Given the description of an element on the screen output the (x, y) to click on. 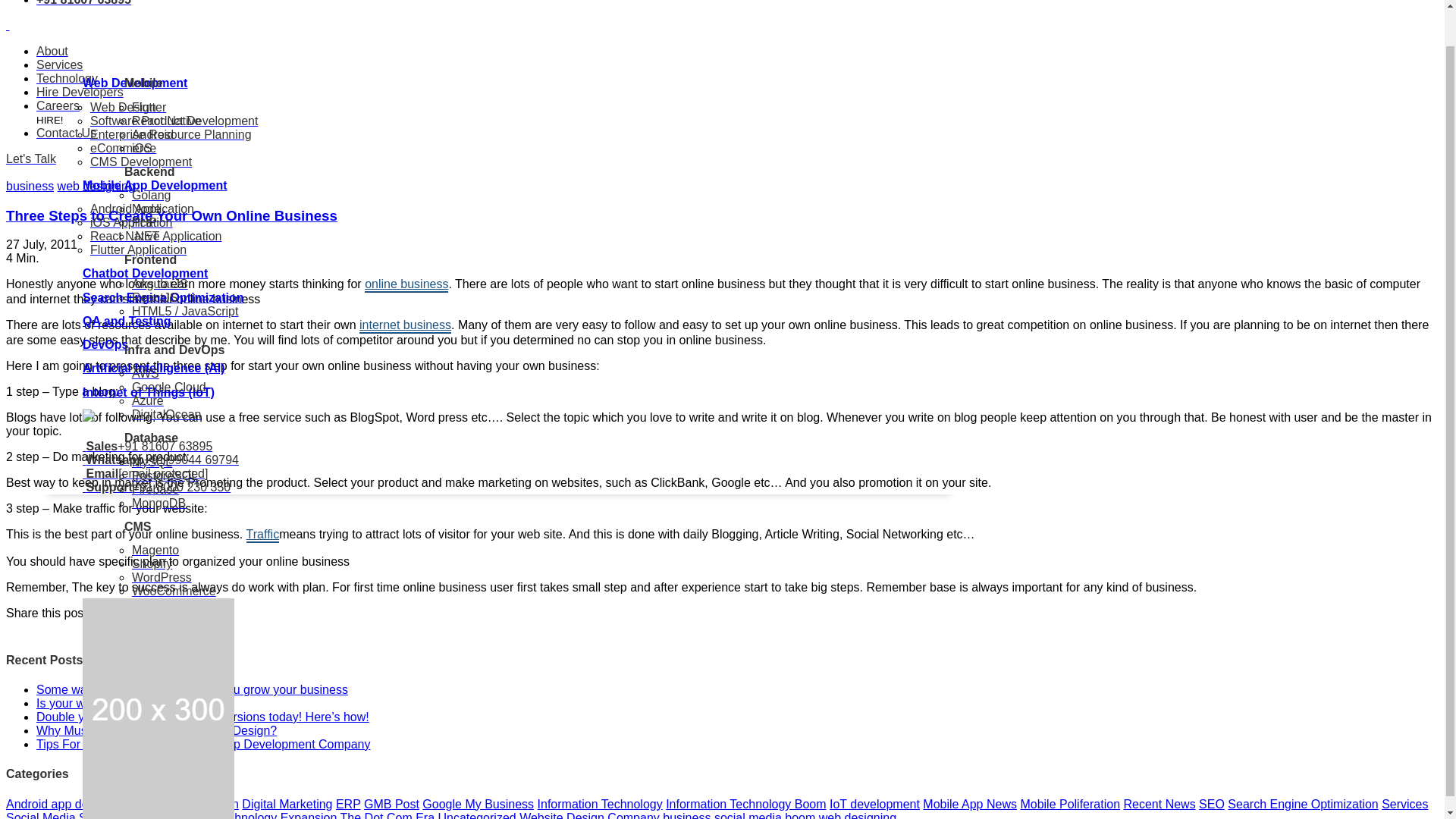
Services (59, 64)
eCommerce (122, 109)
.NET (145, 196)
Azure (147, 361)
PHP (144, 183)
Web Design (122, 68)
About (52, 51)
AWS (145, 334)
Internet Business (405, 325)
CMS Development (141, 123)
React Native (167, 82)
Online Business (406, 284)
ReactJS (154, 258)
Node (146, 169)
AngularJS (159, 245)
